Given the description of an element on the screen output the (x, y) to click on. 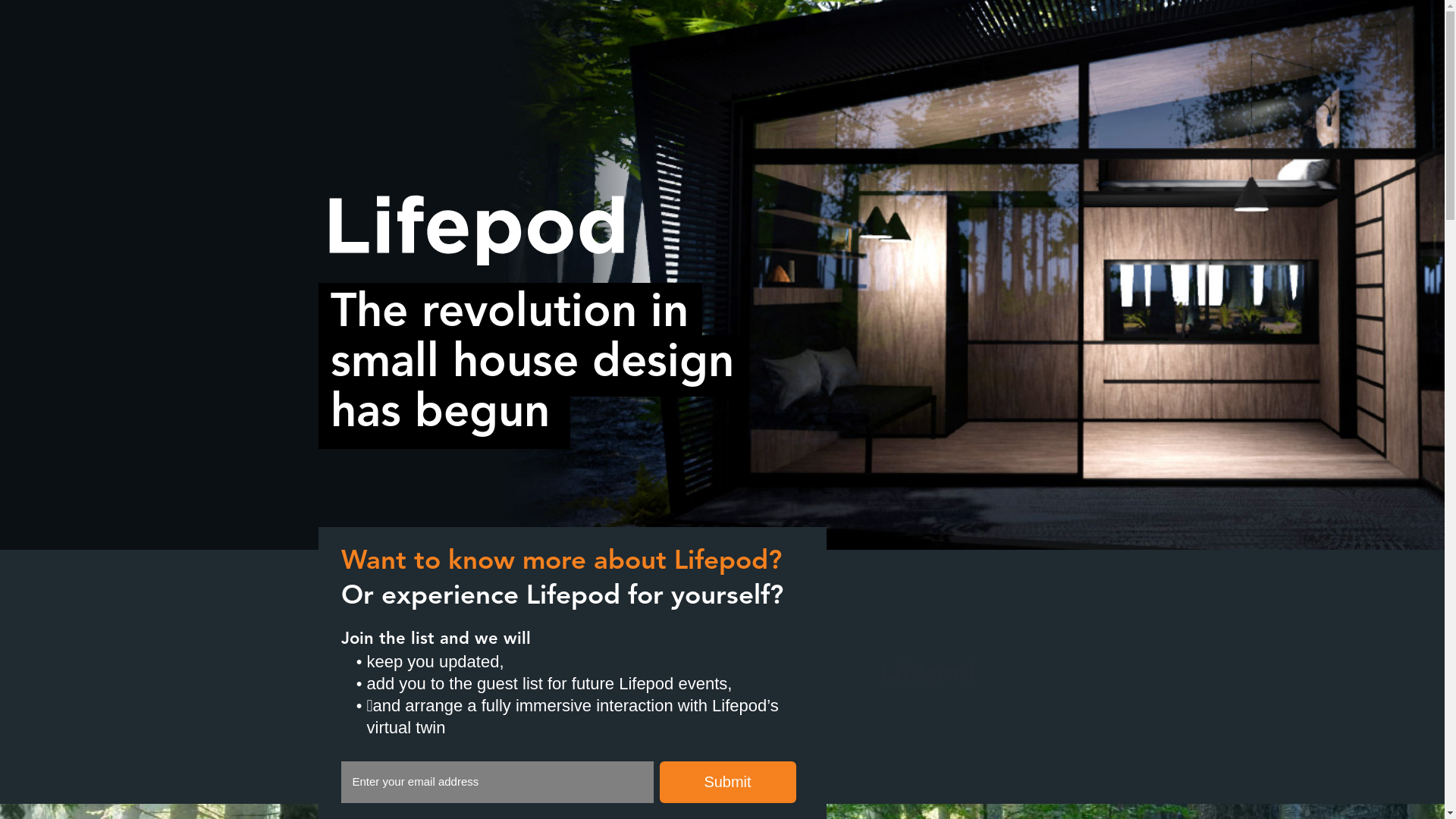
Submit Element type: text (727, 782)
